Given the description of an element on the screen output the (x, y) to click on. 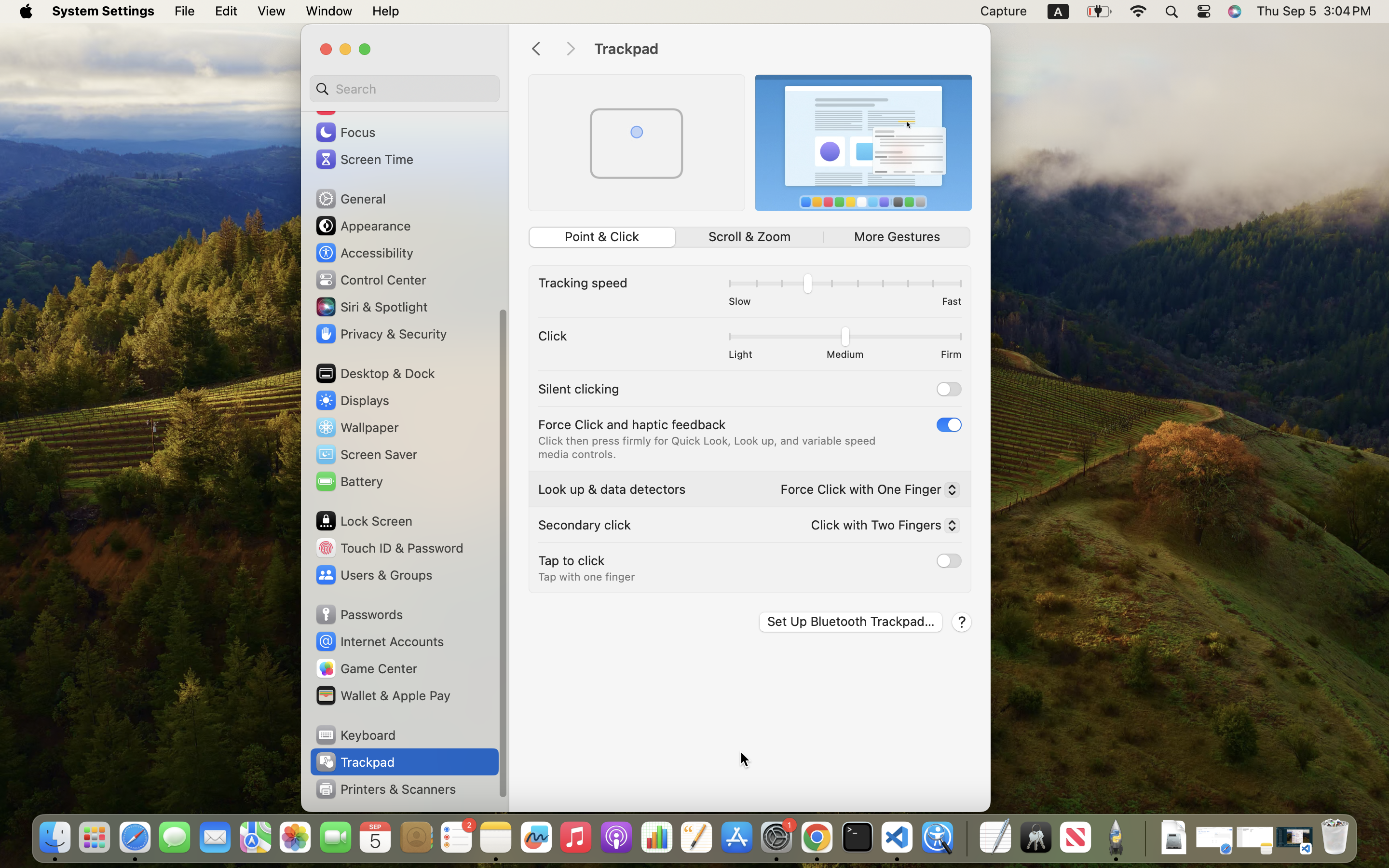
Click Element type: AXStaticText (552, 335)
Look up & data detectors Element type: AXStaticText (611, 488)
Screen Time Element type: AXStaticText (363, 158)
1.0 Element type: AXSlider (844, 338)
Force Click and haptic feedback Element type: AXStaticText (631, 424)
